Given the description of an element on the screen output the (x, y) to click on. 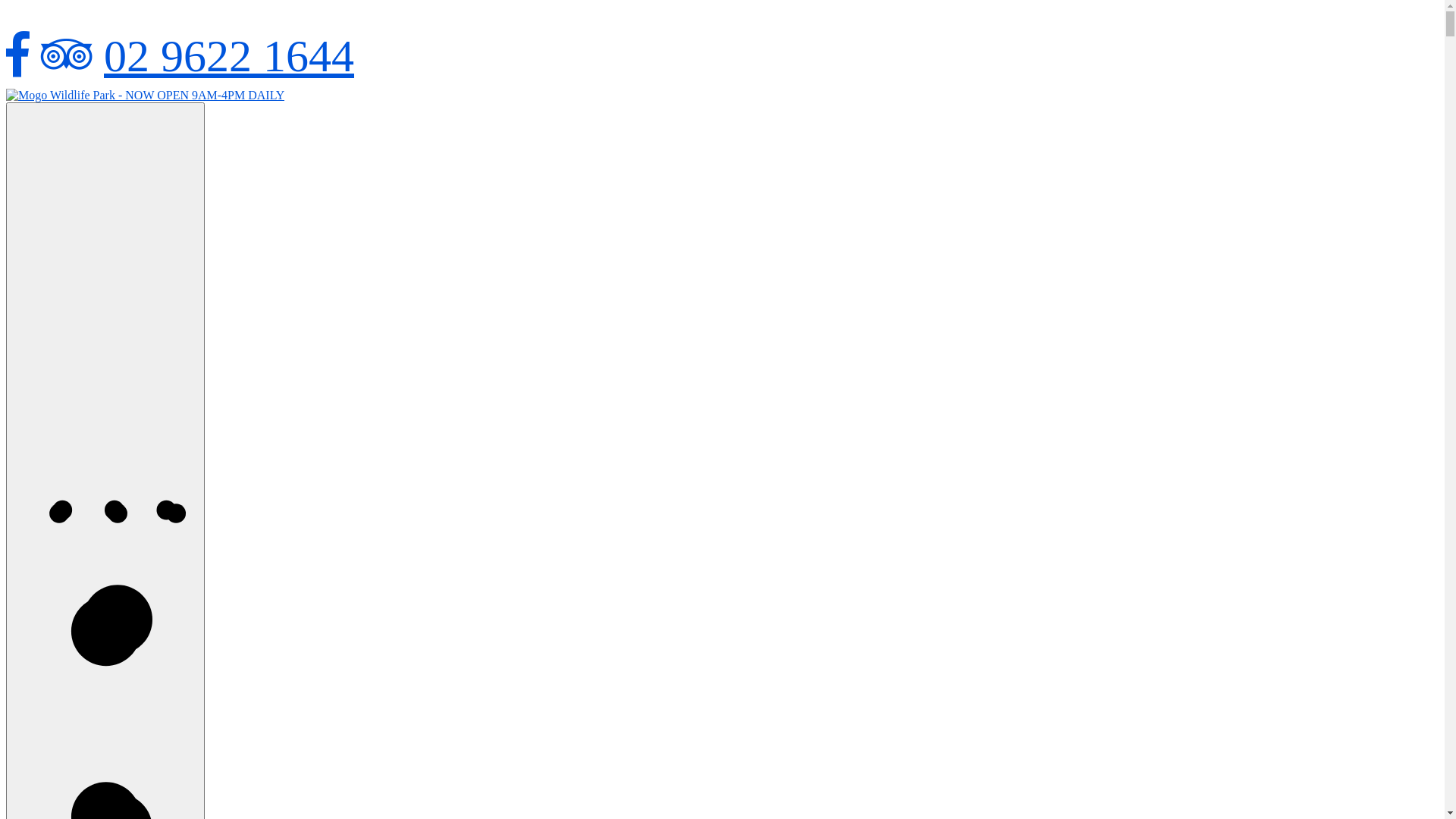
02 9622 1644 Element type: text (228, 56)
